Given the description of an element on the screen output the (x, y) to click on. 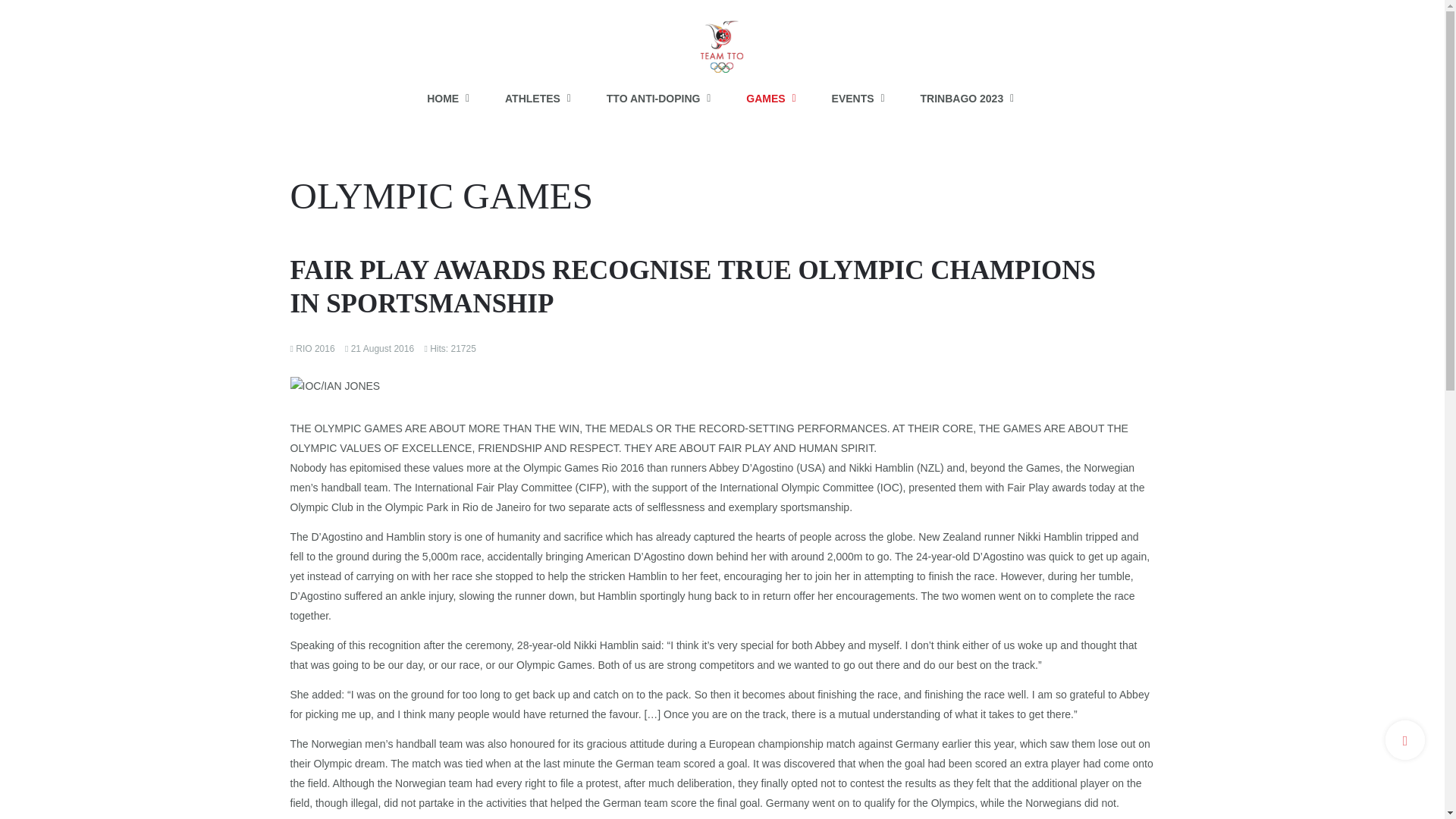
Category:  (311, 347)
Published:  (379, 347)
Back to Top (1405, 740)
Team TTO (721, 38)
